Given the description of an element on the screen output the (x, y) to click on. 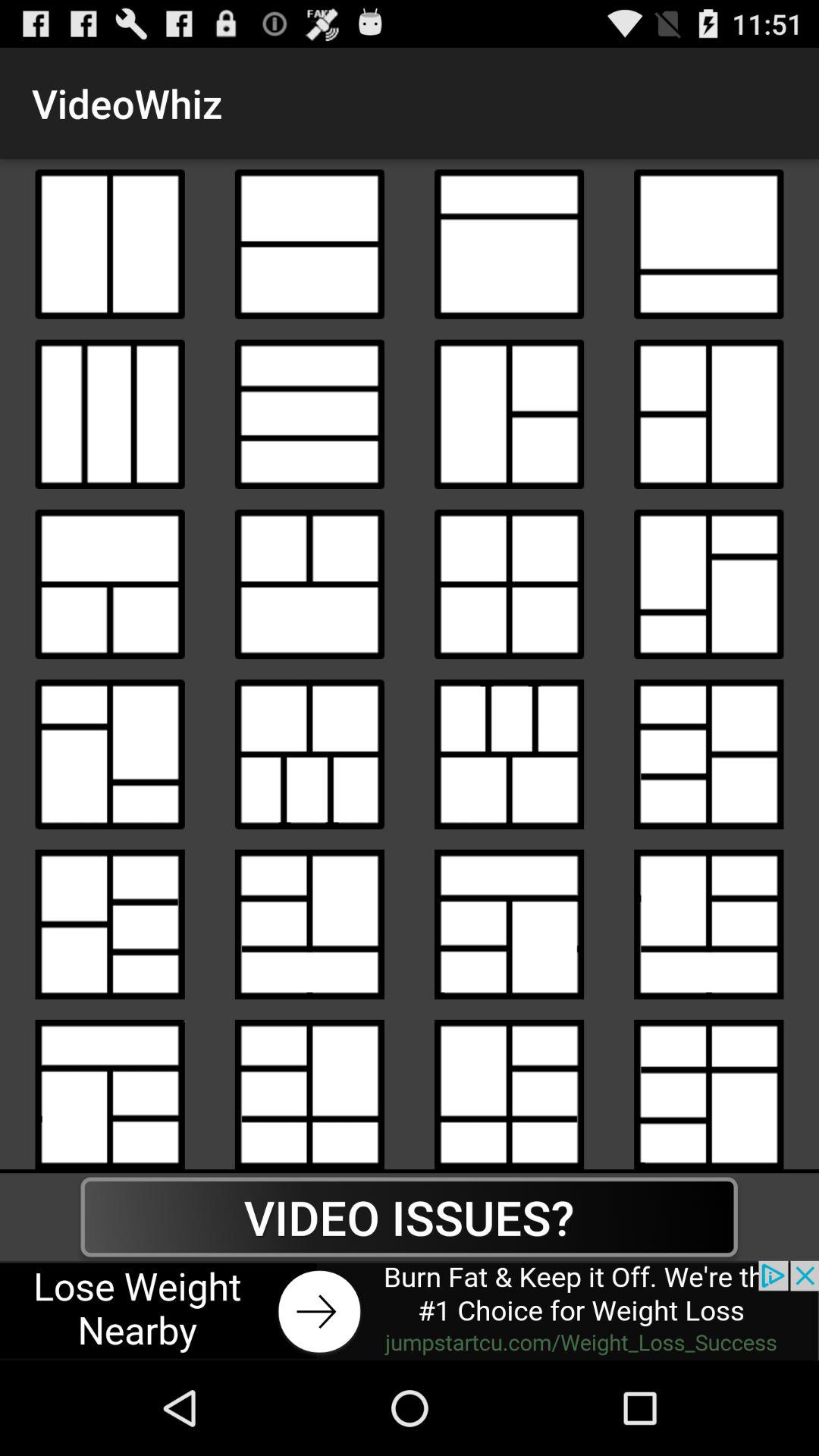
collage model box (309, 414)
